Given the description of an element on the screen output the (x, y) to click on. 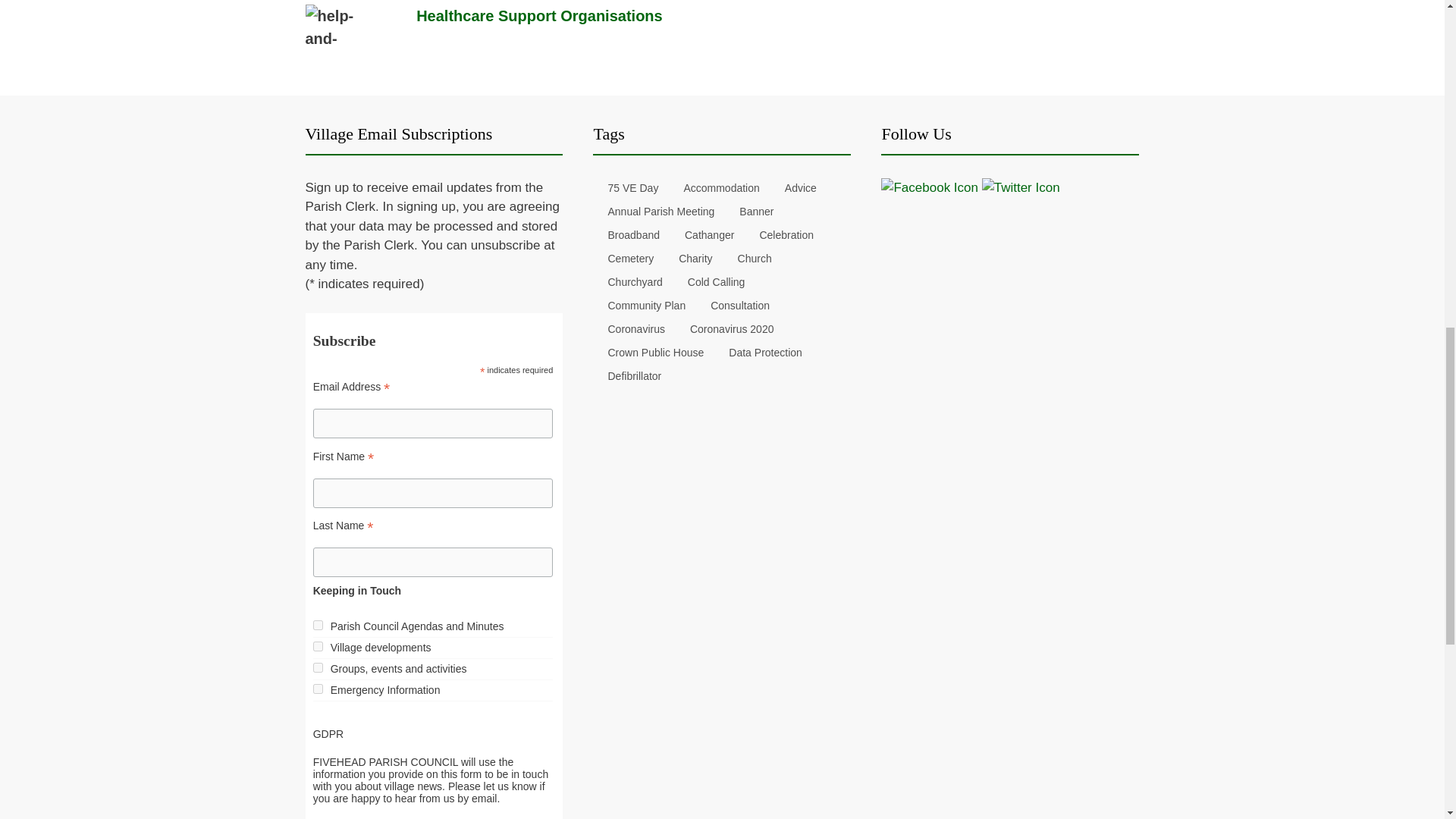
Scroll back to top (1406, 720)
1 (318, 624)
2 (318, 646)
8 (318, 688)
4 (318, 667)
